Given the description of an element on the screen output the (x, y) to click on. 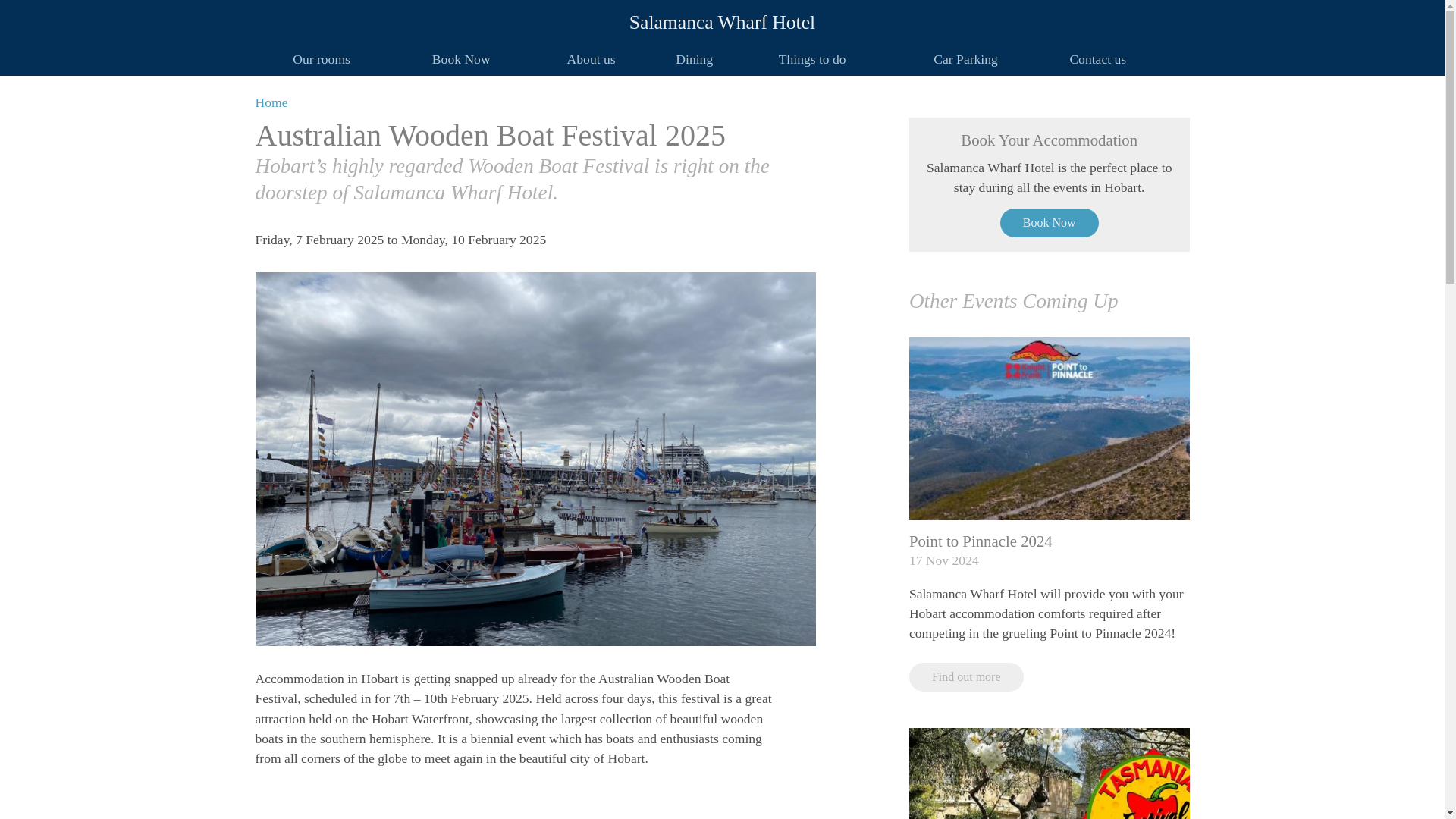
Our rooms (321, 61)
Salamanca Wharf Hotel (721, 16)
Book Now (461, 61)
